Given the description of an element on the screen output the (x, y) to click on. 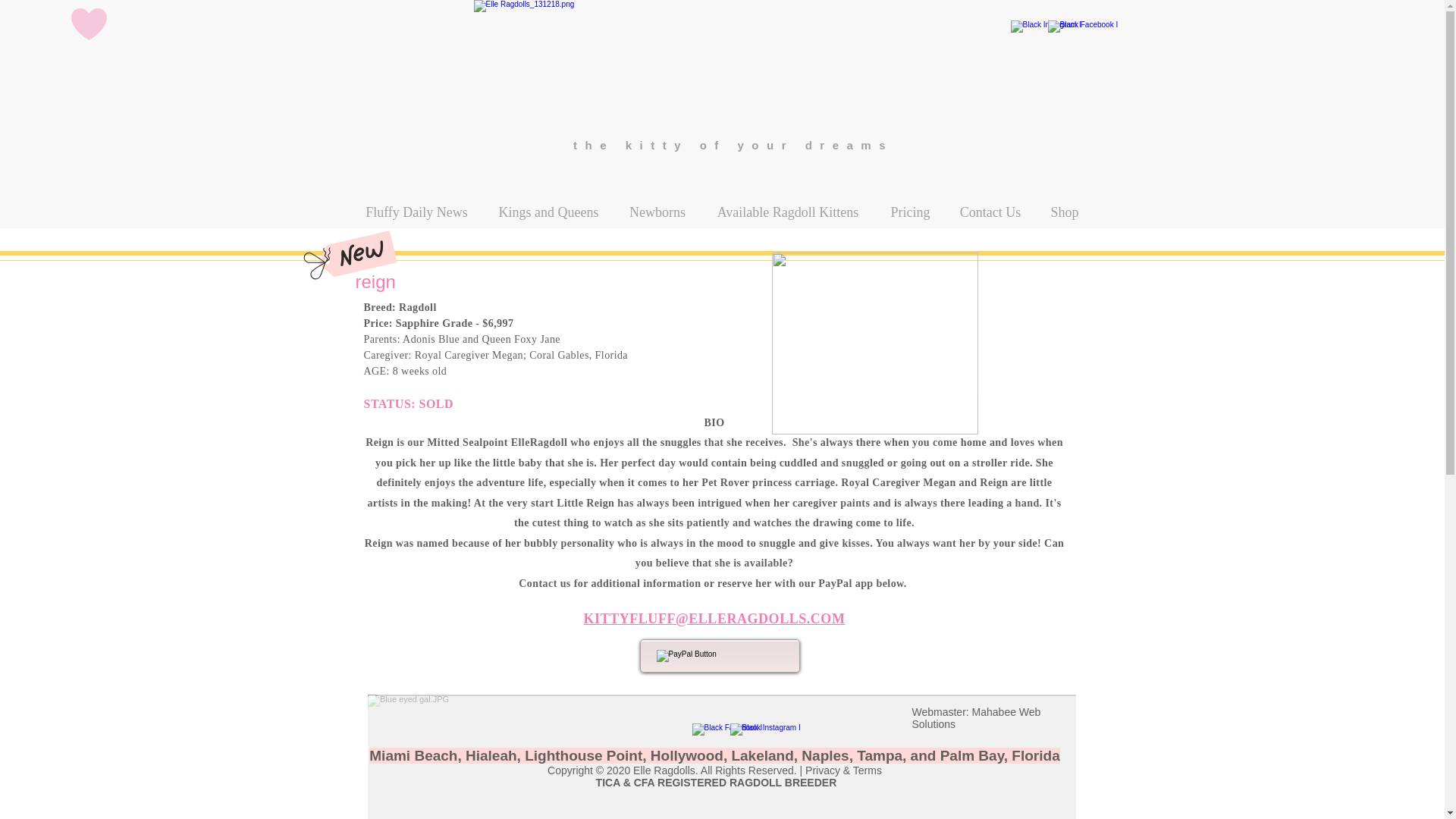
the kitty of your dreams (733, 144)
Available Ragdoll Kittens (788, 212)
Newborns (657, 212)
Fluffy Daily News (415, 212)
